Given the description of an element on the screen output the (x, y) to click on. 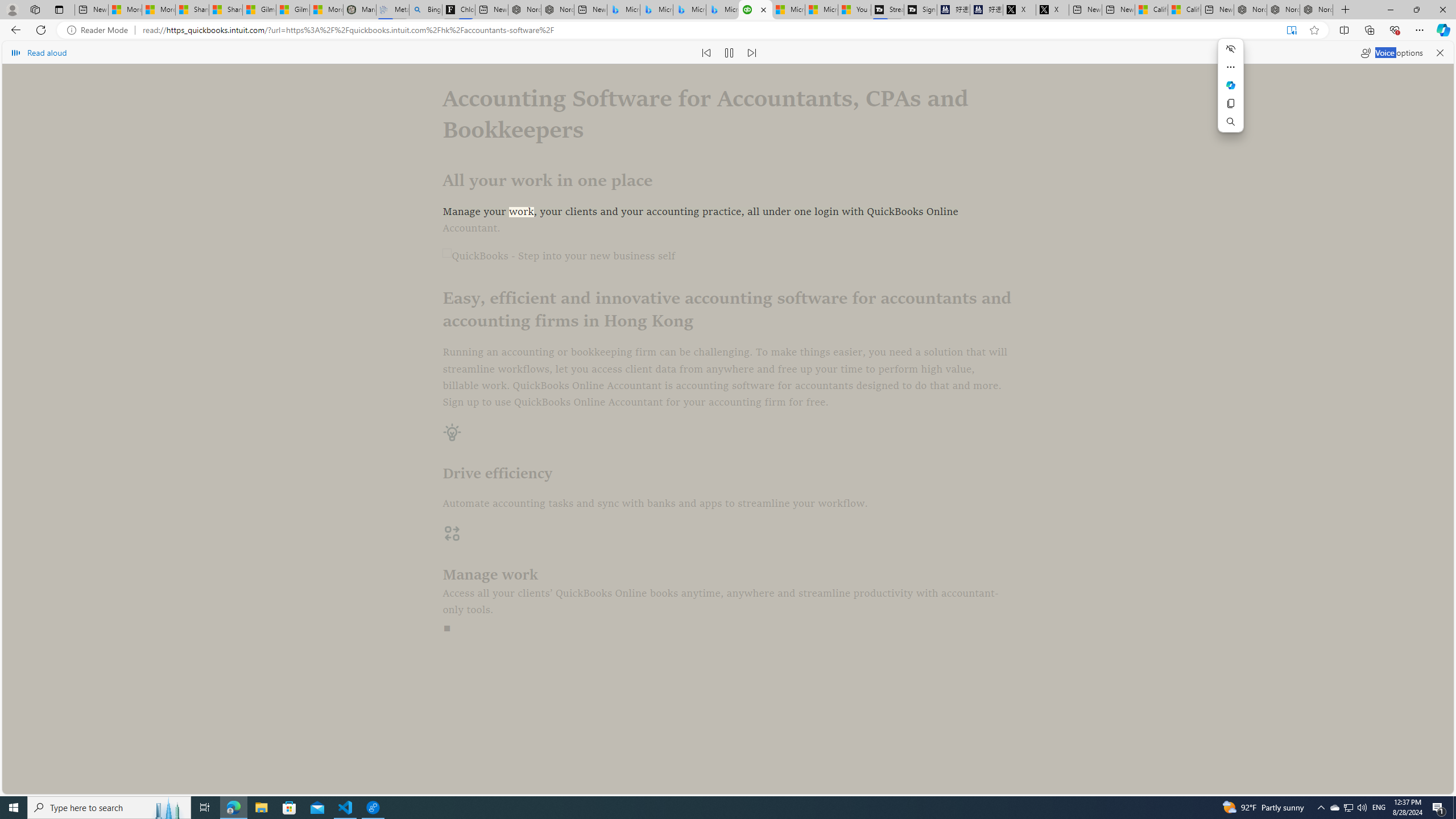
QuickBooks - Step into your new business self (727, 256)
Read previous paragraph (705, 52)
More actions (1230, 67)
Exit Immersive Reader (F9) (1291, 29)
